Given the description of an element on the screen output the (x, y) to click on. 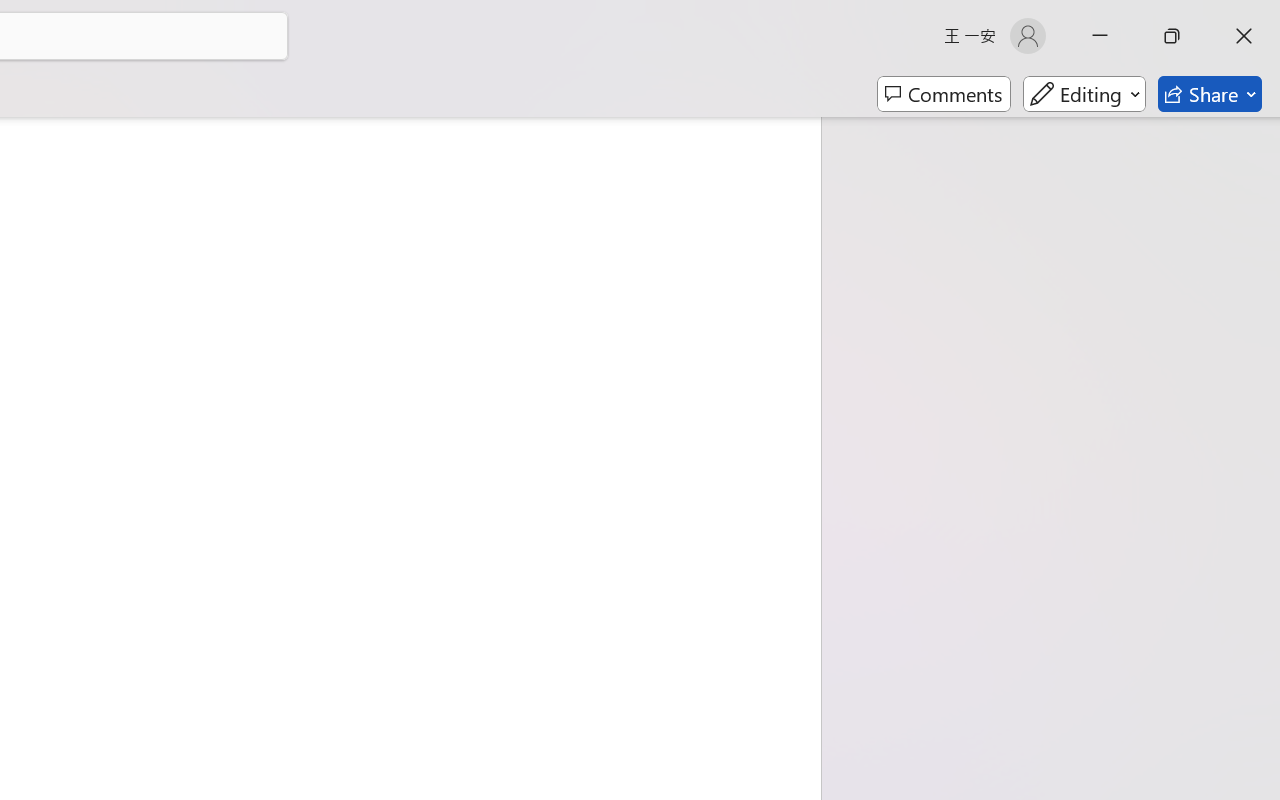
Restore Down (1172, 36)
Minimize (1099, 36)
Close (1244, 36)
Mode (1083, 94)
Comments (943, 94)
Share (1210, 94)
